Given the description of an element on the screen output the (x, y) to click on. 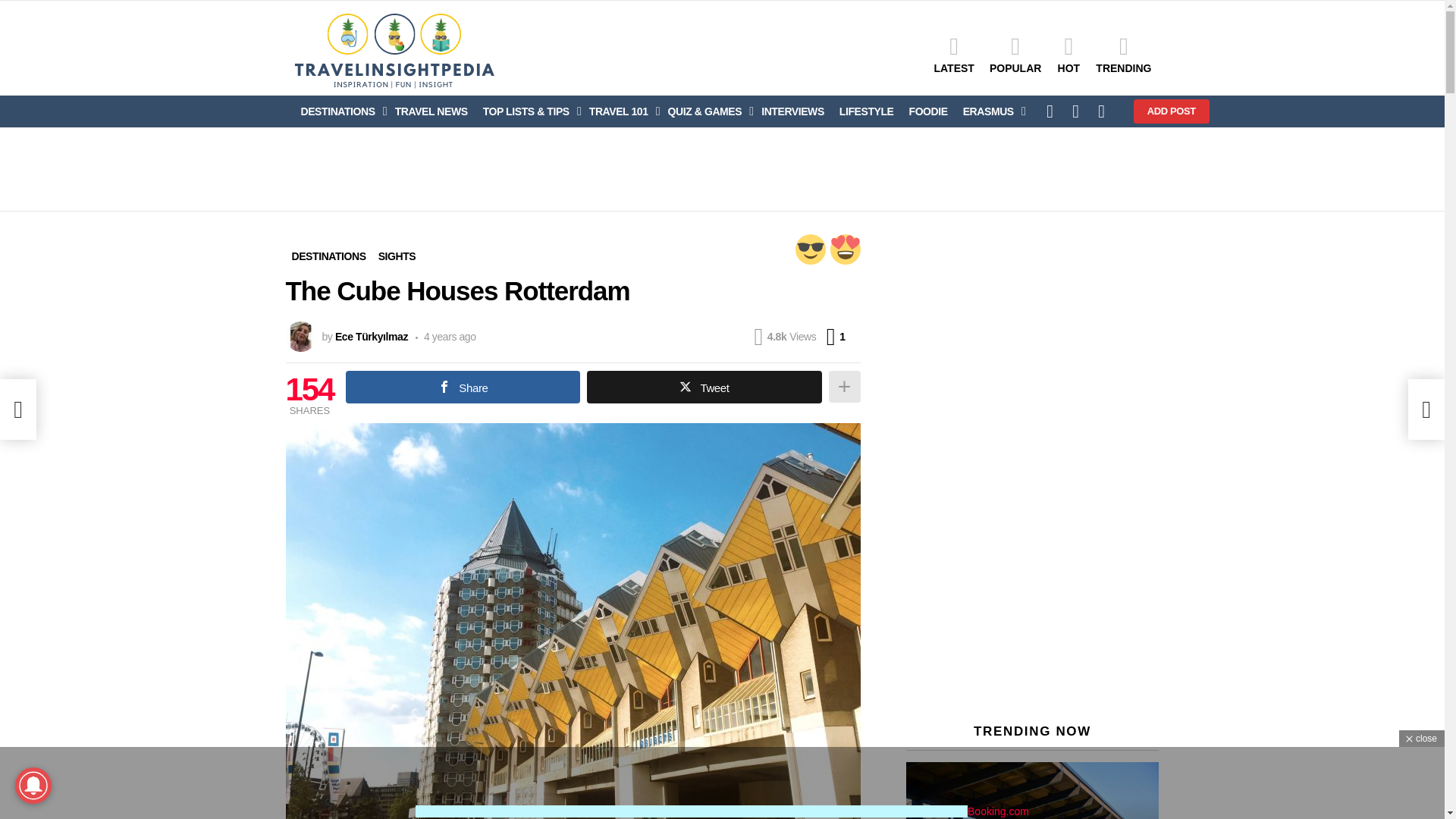
INTERVIEWS (792, 110)
ADD POST (1171, 111)
TRENDING (1122, 54)
Love (844, 249)
TRAVEL 101 (620, 110)
POPULAR (1014, 54)
FOODIE (928, 110)
TRAVEL NEWS (431, 110)
Advertisement (721, 169)
ERASMUS (990, 110)
